Given the description of an element on the screen output the (x, y) to click on. 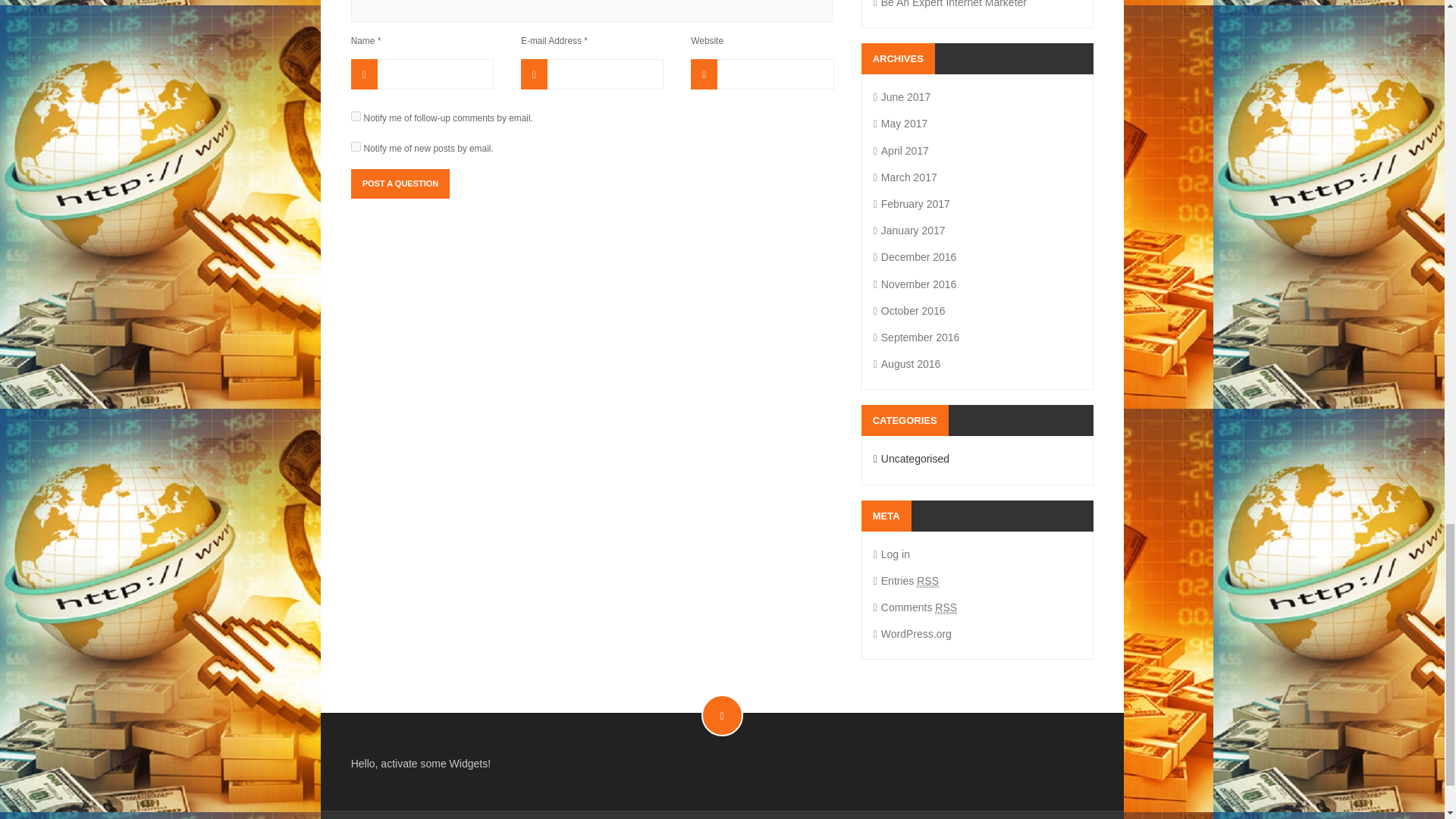
Post a Question (399, 183)
Post a Question (399, 183)
subscribe (355, 146)
subscribe (355, 116)
